Given the description of an element on the screen output the (x, y) to click on. 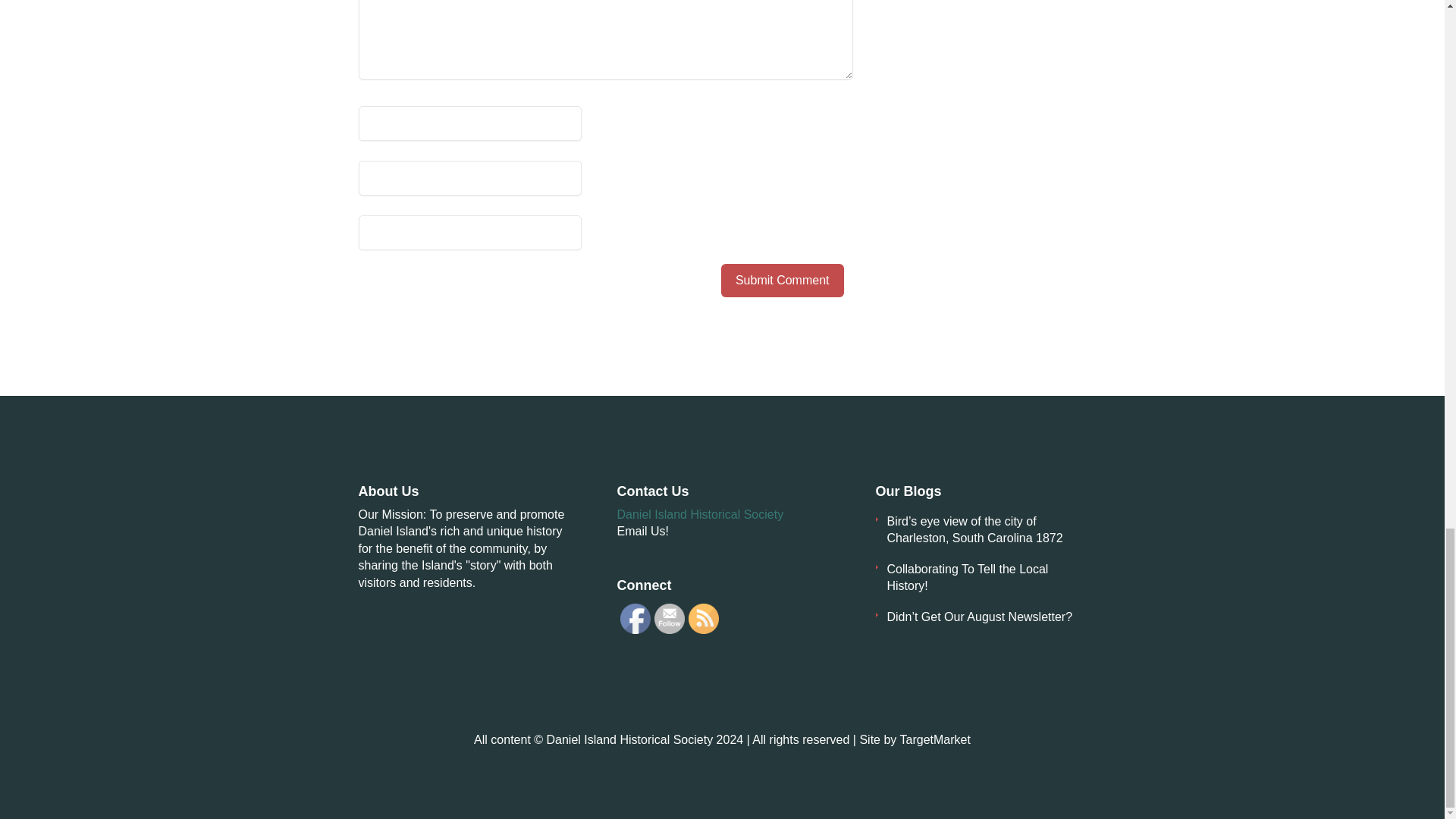
Follow by Email (668, 618)
RSS (703, 618)
Submit Comment (782, 280)
Facebook (635, 618)
